Given the description of an element on the screen output the (x, y) to click on. 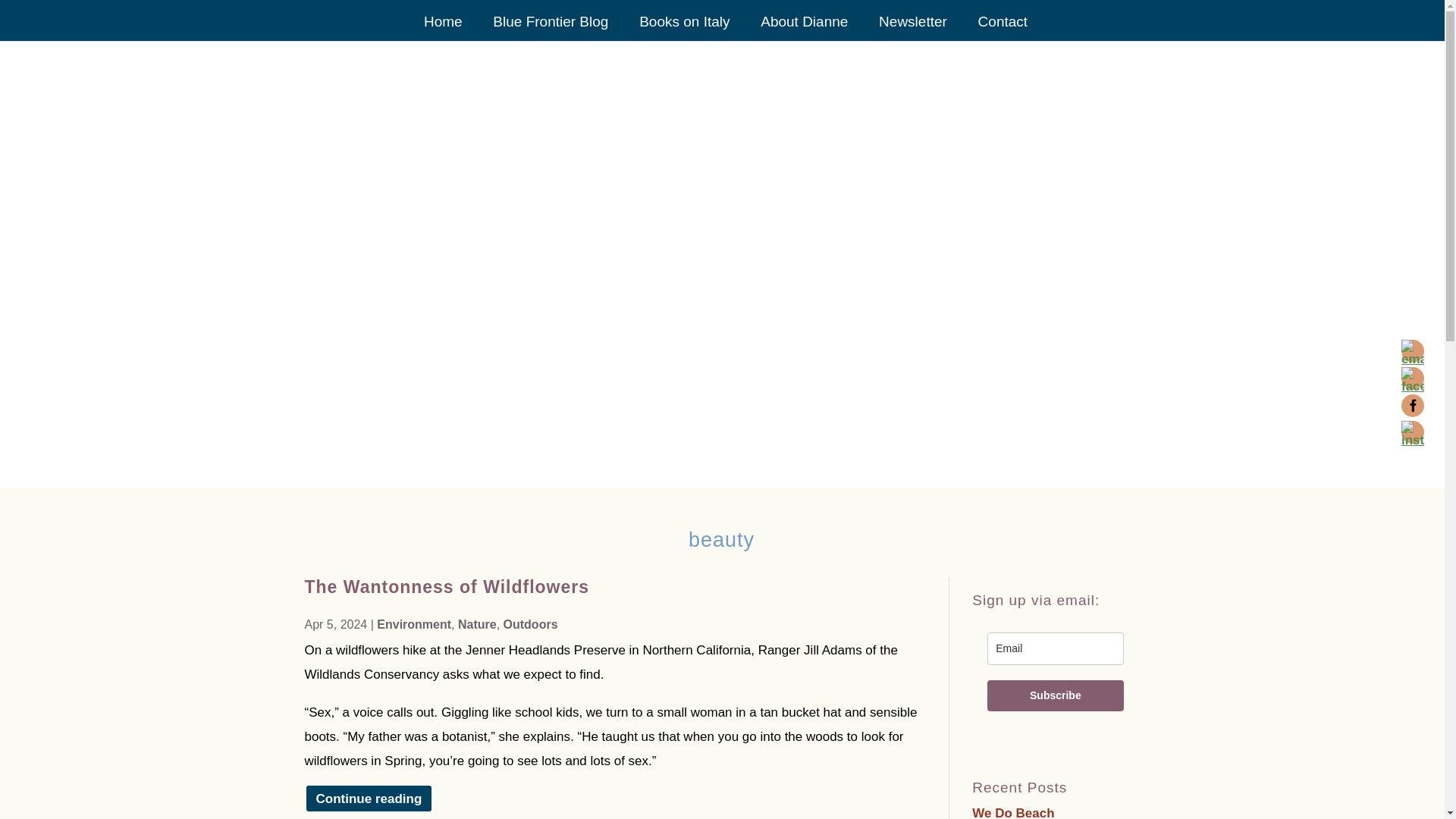
Books on Italy (683, 28)
We Do Beach (1013, 812)
Subscribe (1054, 695)
Home (442, 28)
Environment (414, 624)
Nature (477, 624)
Continue reading (368, 798)
Blue Frontier Blog (550, 28)
The Wantonness of Wildflowers (446, 587)
Outdoors (530, 624)
Newsletter (912, 28)
About Dianne (804, 28)
Contact (1002, 28)
